Given the description of an element on the screen output the (x, y) to click on. 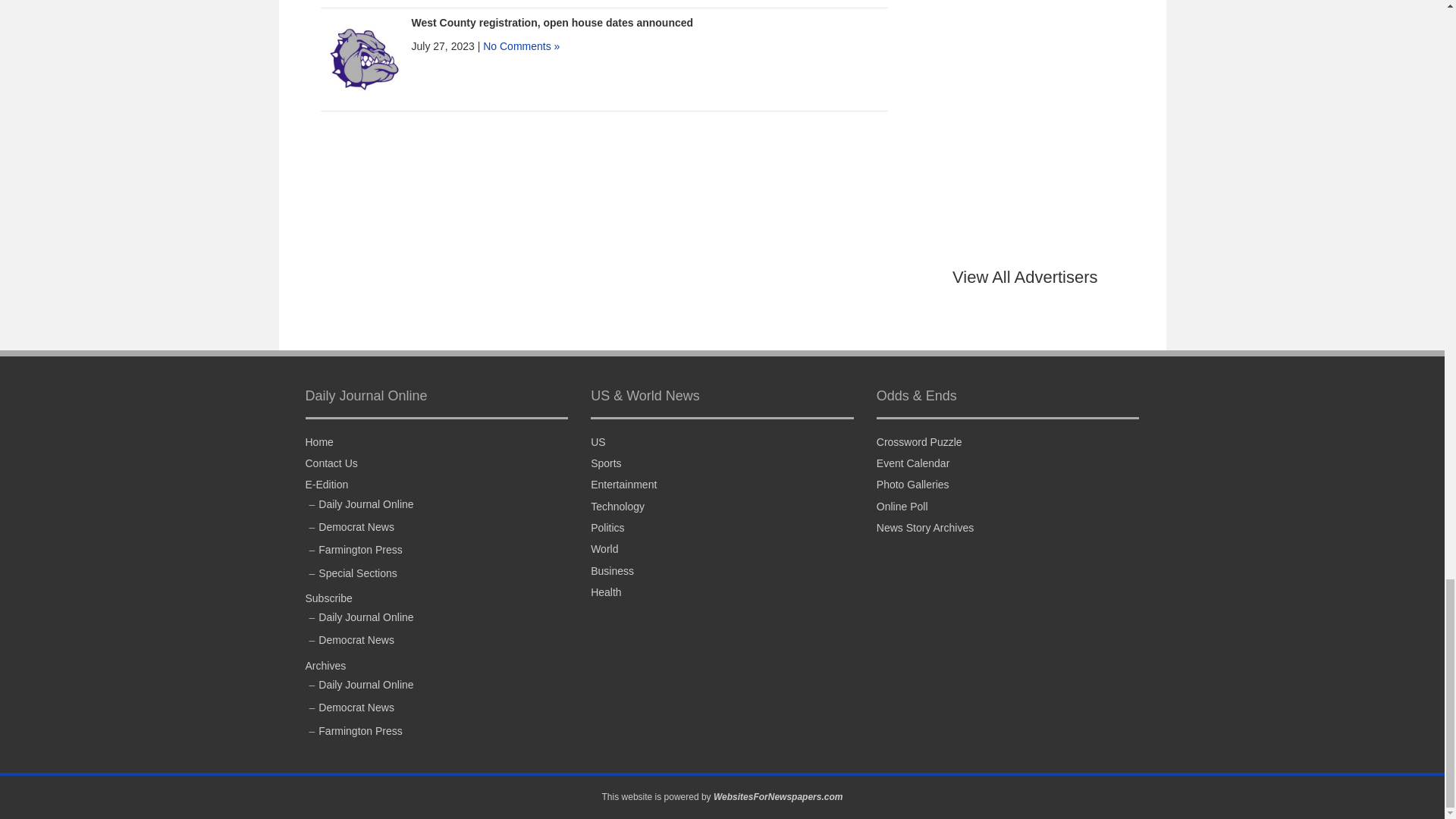
West County registration, open house dates announced (363, 58)
West County registration, open house dates announced (551, 22)
